Given the description of an element on the screen output the (x, y) to click on. 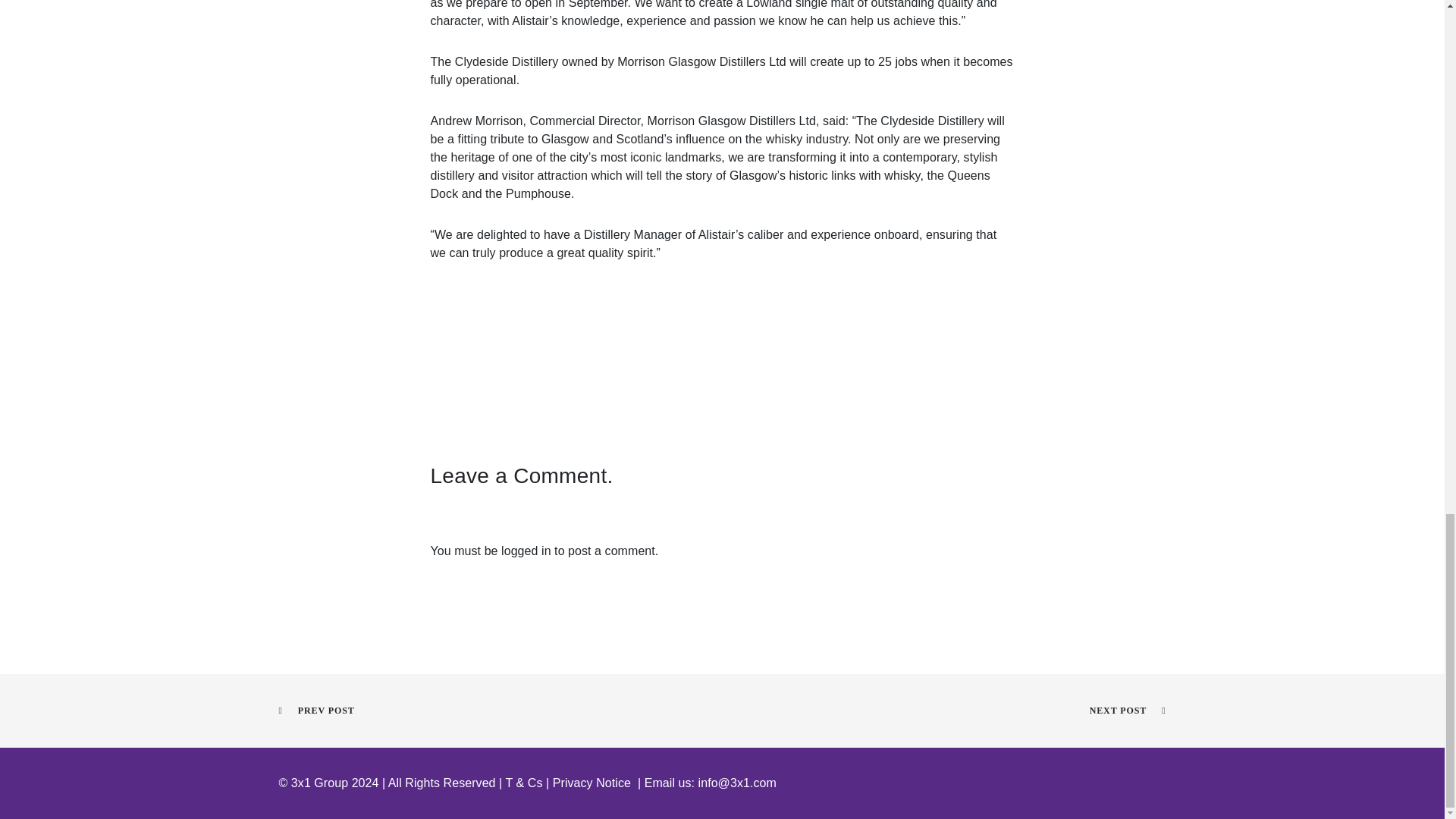
logged in (525, 550)
Privacy Notice (591, 782)
PREV POST (317, 710)
NEXT POST (1127, 710)
